Given the description of an element on the screen output the (x, y) to click on. 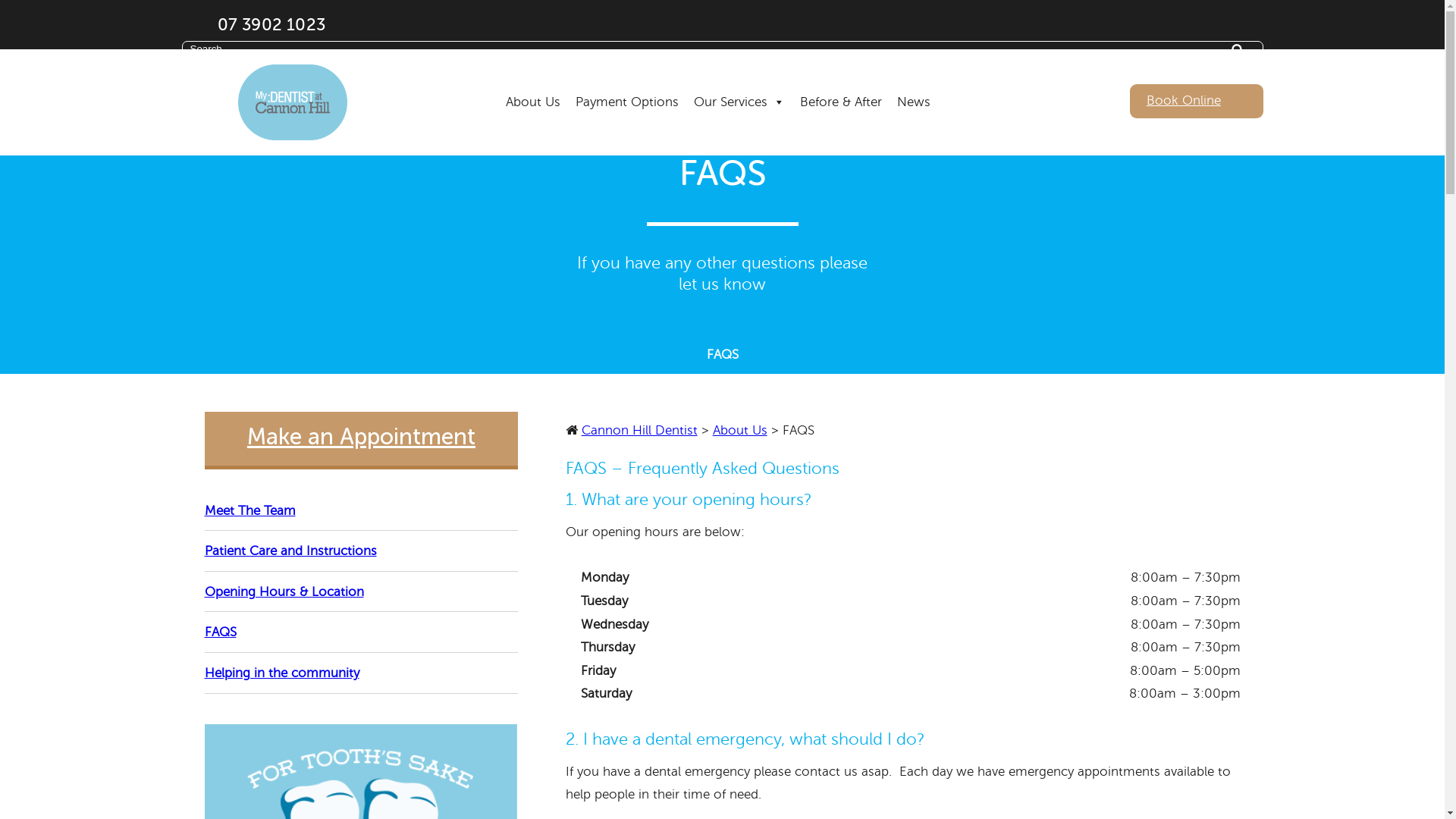
Patient Care and Instructions Element type: text (361, 555)
News Element type: text (913, 83)
About Us Element type: text (739, 430)
Payment Options Element type: text (626, 83)
FAQS Element type: text (361, 636)
Our Services Element type: text (739, 83)
Meet The Team Element type: text (361, 515)
About Us Element type: text (532, 83)
Book Online Element type: text (1196, 101)
Make an Appointment Element type: text (361, 440)
Before & After Element type: text (840, 83)
Opening Hours & Location Element type: text (361, 596)
Helping in the community Element type: text (361, 677)
Home Element type: text (292, 102)
Cannon Hill Dentist Element type: text (639, 430)
